Given the description of an element on the screen output the (x, y) to click on. 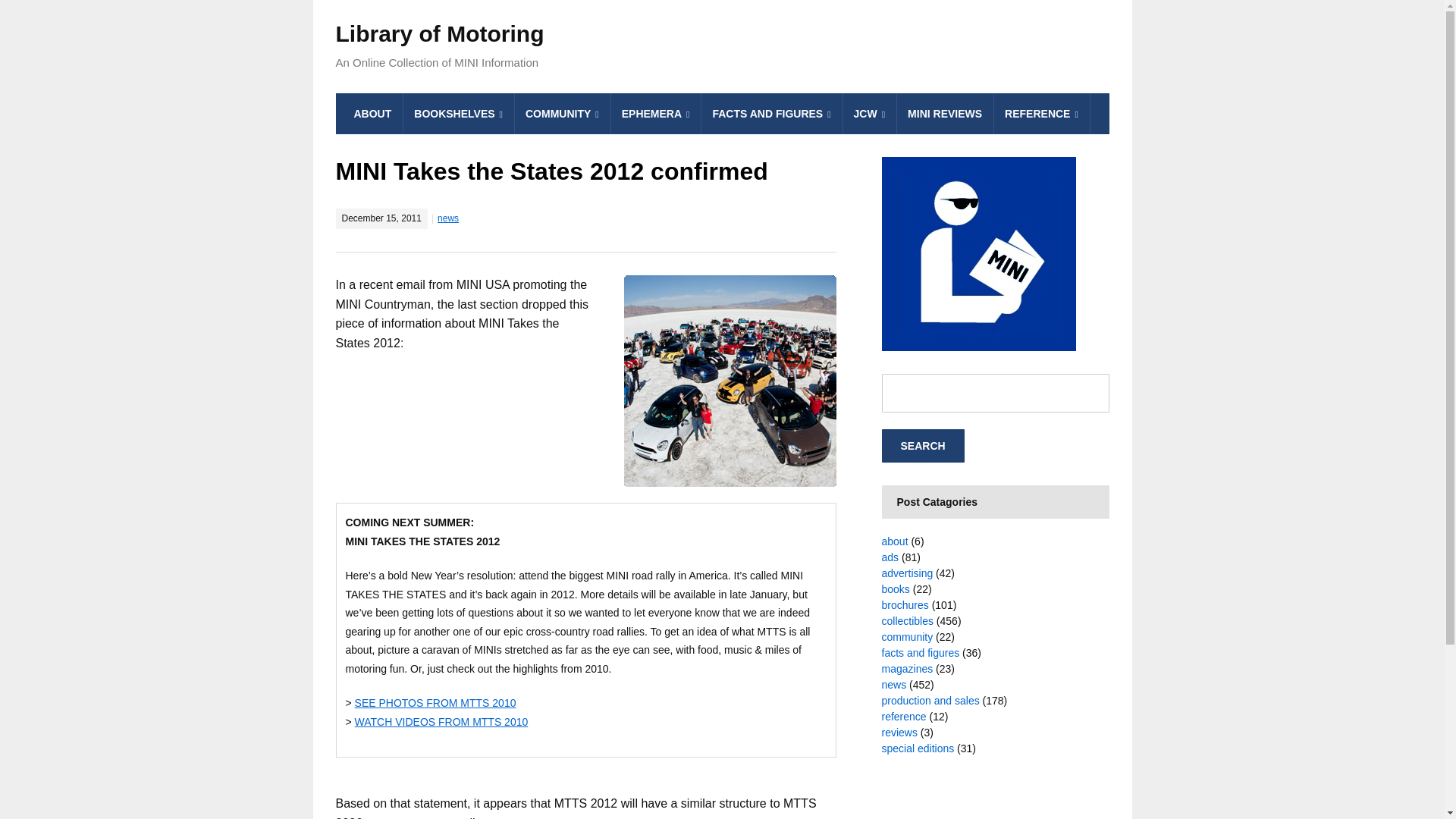
MTTS 2012 announcement (729, 381)
Search (921, 445)
Library of Motoring (438, 33)
